Given the description of an element on the screen output the (x, y) to click on. 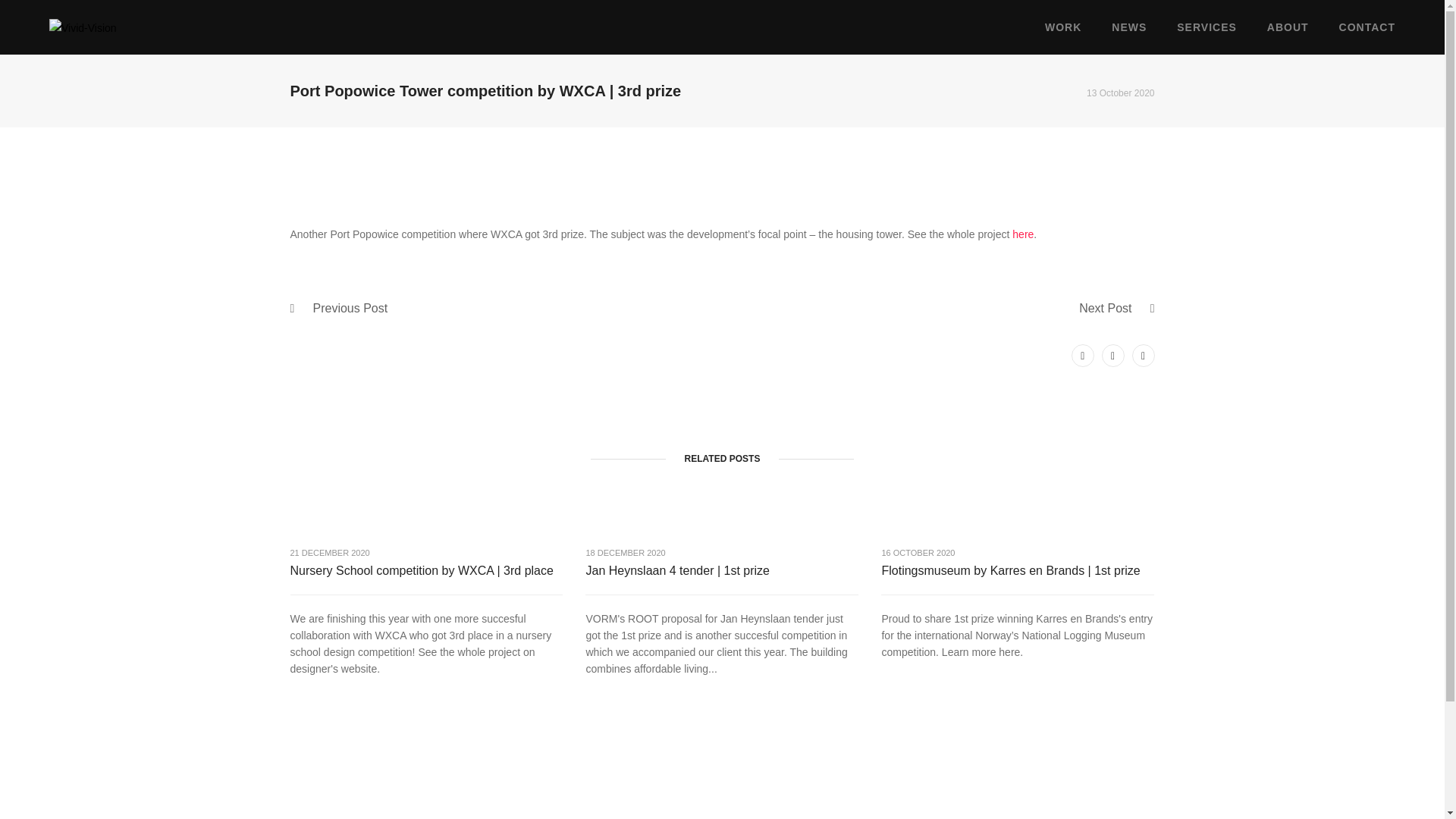
Previous Post (350, 308)
Vivid-Vision (82, 26)
here (1022, 234)
CONTACT (1366, 27)
SERVICES (1206, 27)
Next Post (1104, 308)
